Given the description of an element on the screen output the (x, y) to click on. 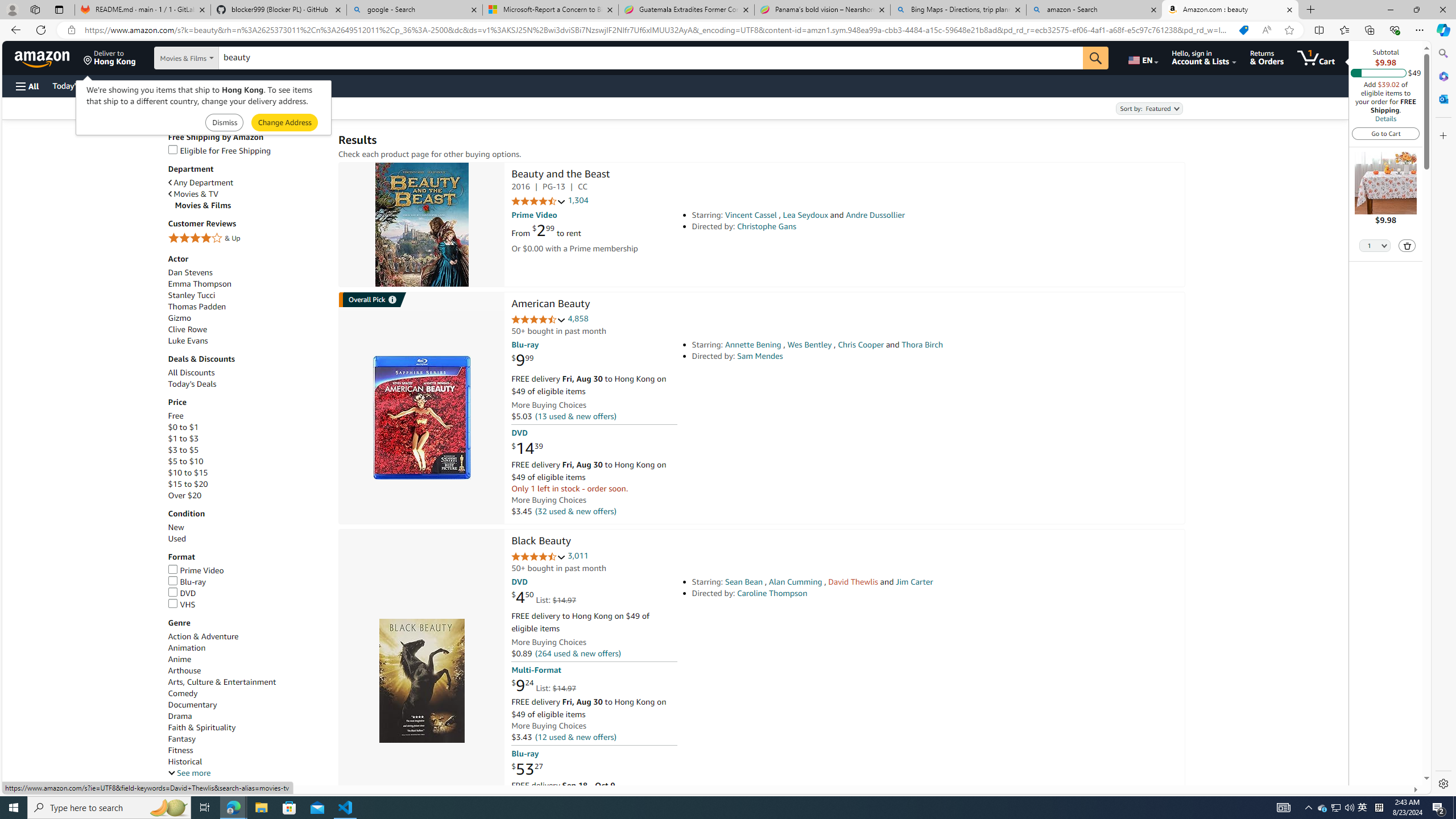
Skip to main search results (50, 780)
Fitness (247, 750)
$15 to $20 (187, 484)
google - Search (414, 9)
Action & Adventure (202, 636)
Gift Cards (251, 85)
(13 used & new offers) (574, 416)
Go back to filtering menu (48, 780)
Animation (186, 647)
Amazon.com : beauty (1230, 9)
